Given the description of an element on the screen output the (x, y) to click on. 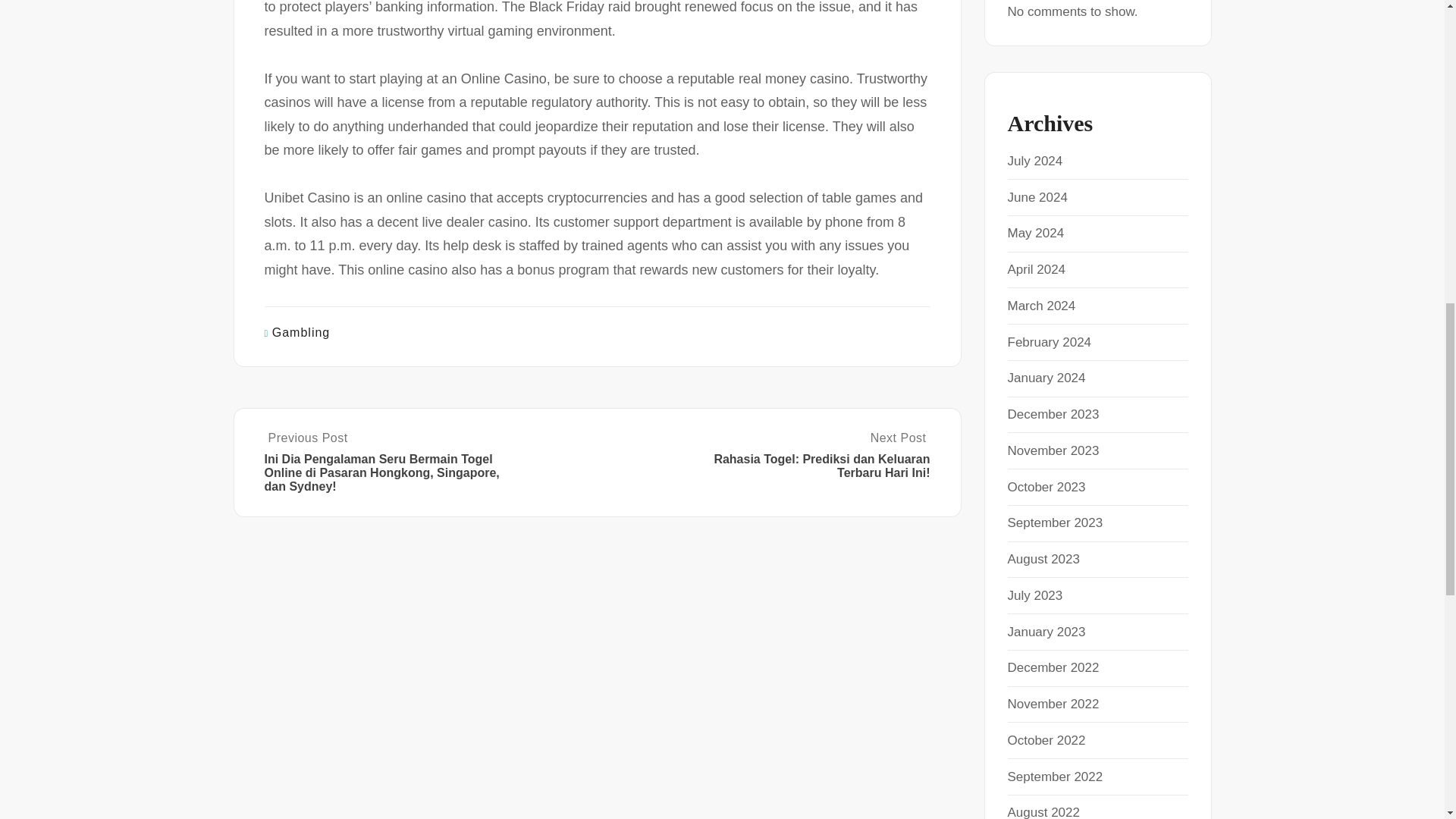
February 2024 (1048, 341)
August 2022 (1042, 812)
January 2023 (1045, 631)
August 2023 (1042, 559)
September 2022 (1054, 775)
June 2024 (1037, 196)
March 2024 (1041, 305)
November 2023 (1053, 450)
December 2022 (1053, 667)
October 2023 (1045, 486)
May 2024 (1035, 233)
September 2023 (1054, 522)
January 2024 (1045, 377)
